Given the description of an element on the screen output the (x, y) to click on. 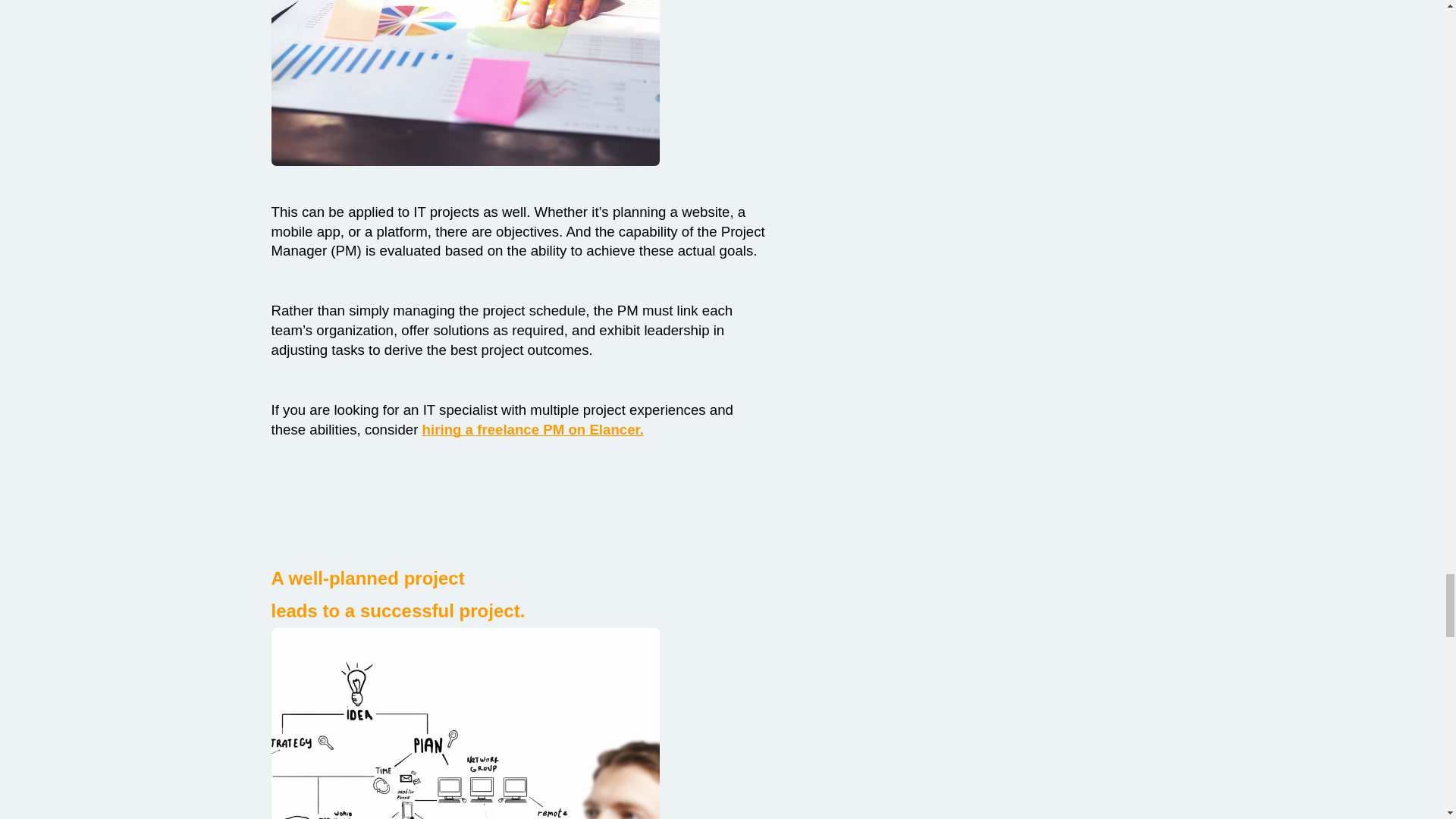
hiring a freelance PM on Elancer. (532, 430)
